Given the description of an element on the screen output the (x, y) to click on. 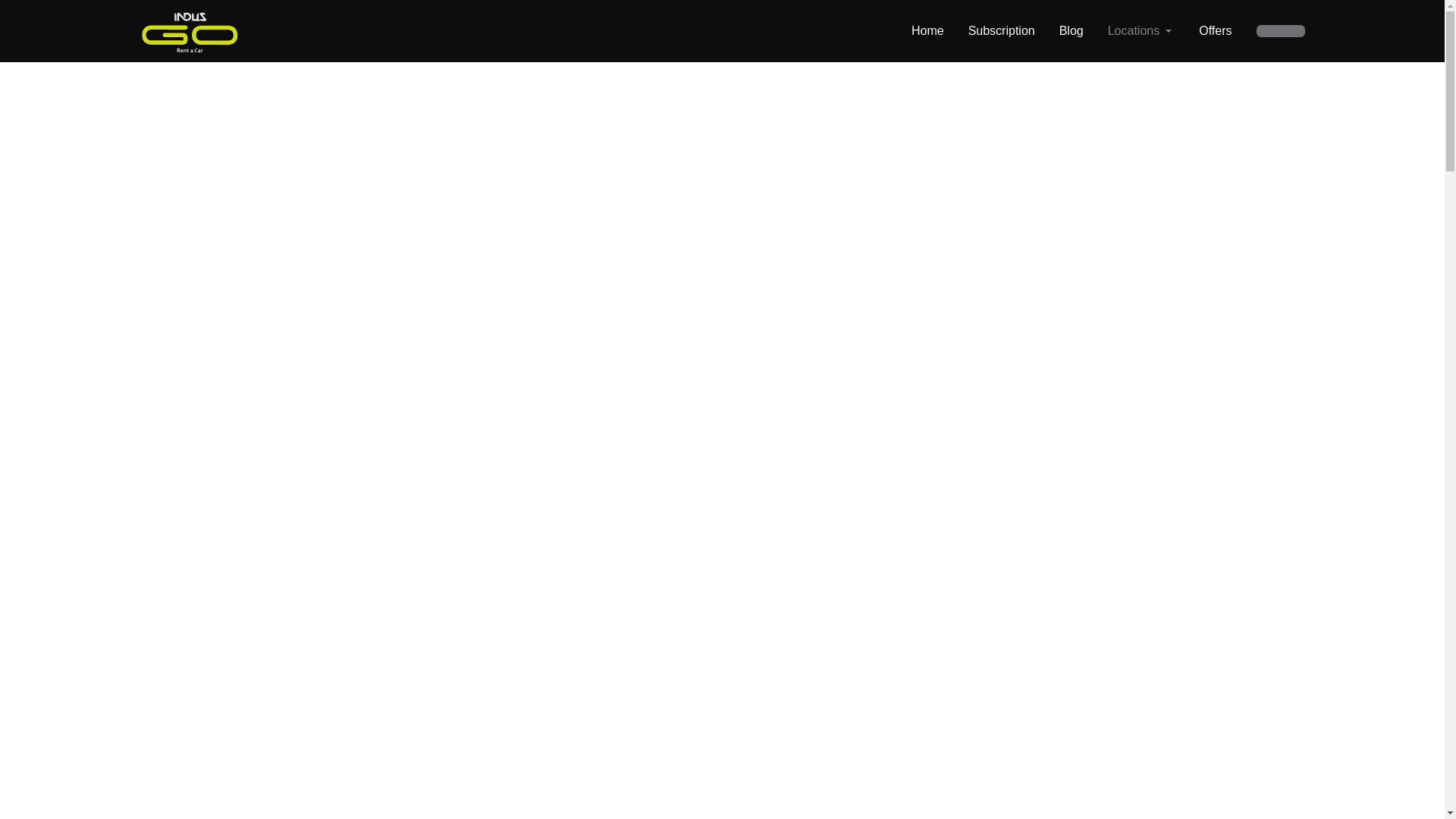
Subscription (1001, 31)
Offers (1214, 31)
Blog (1071, 31)
Locations (1141, 31)
Home (927, 31)
